Given the description of an element on the screen output the (x, y) to click on. 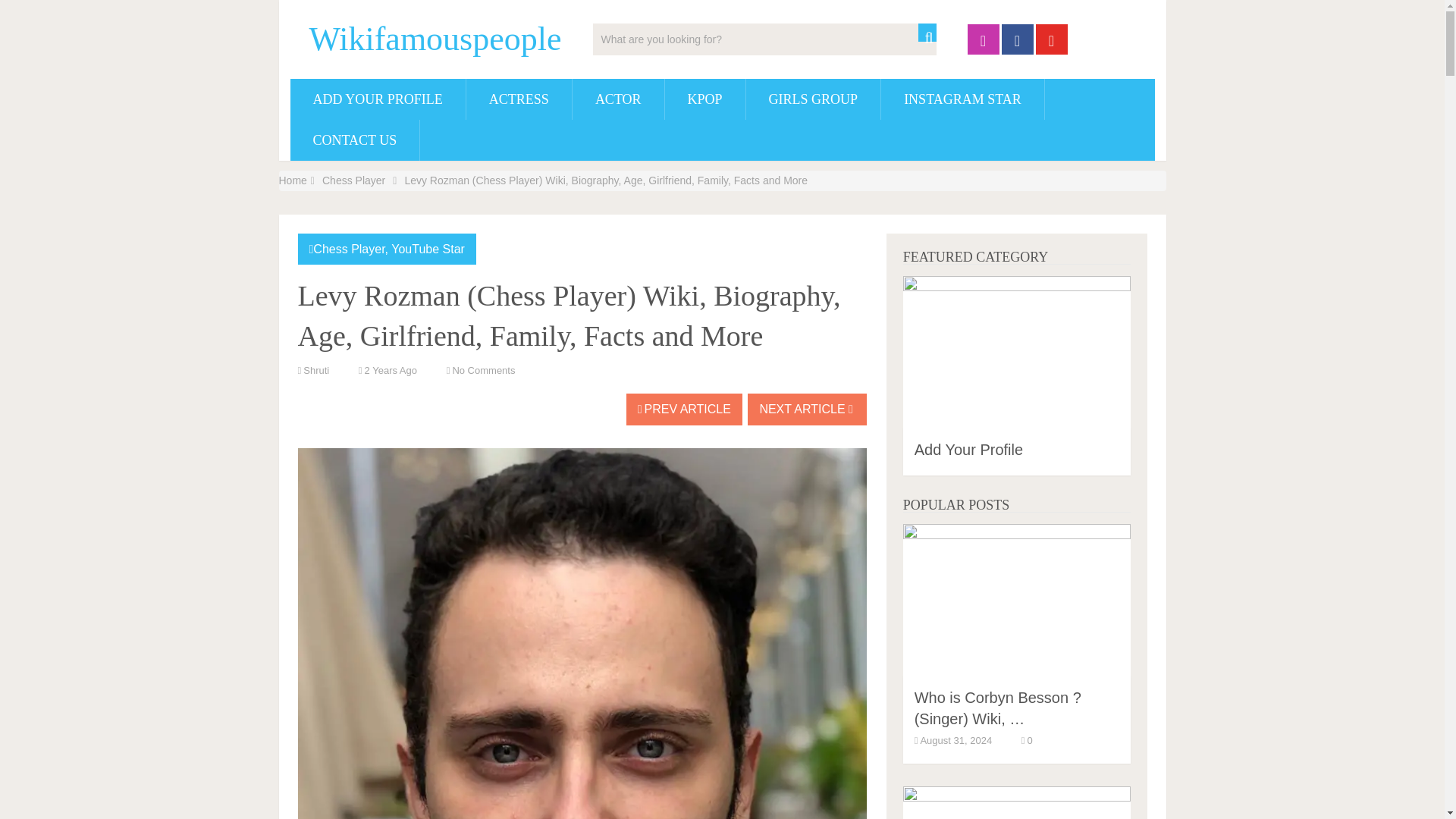
ADD YOUR PROFILE (376, 98)
INSTAGRAM STAR (961, 98)
Home (293, 180)
ACTOR (617, 98)
PREV ARTICLE (684, 409)
KPOP (705, 98)
NEXT ARTICLE (807, 409)
YouTube Star (427, 248)
GIRLS GROUP (812, 98)
Chess Player (353, 180)
